Given the description of an element on the screen output the (x, y) to click on. 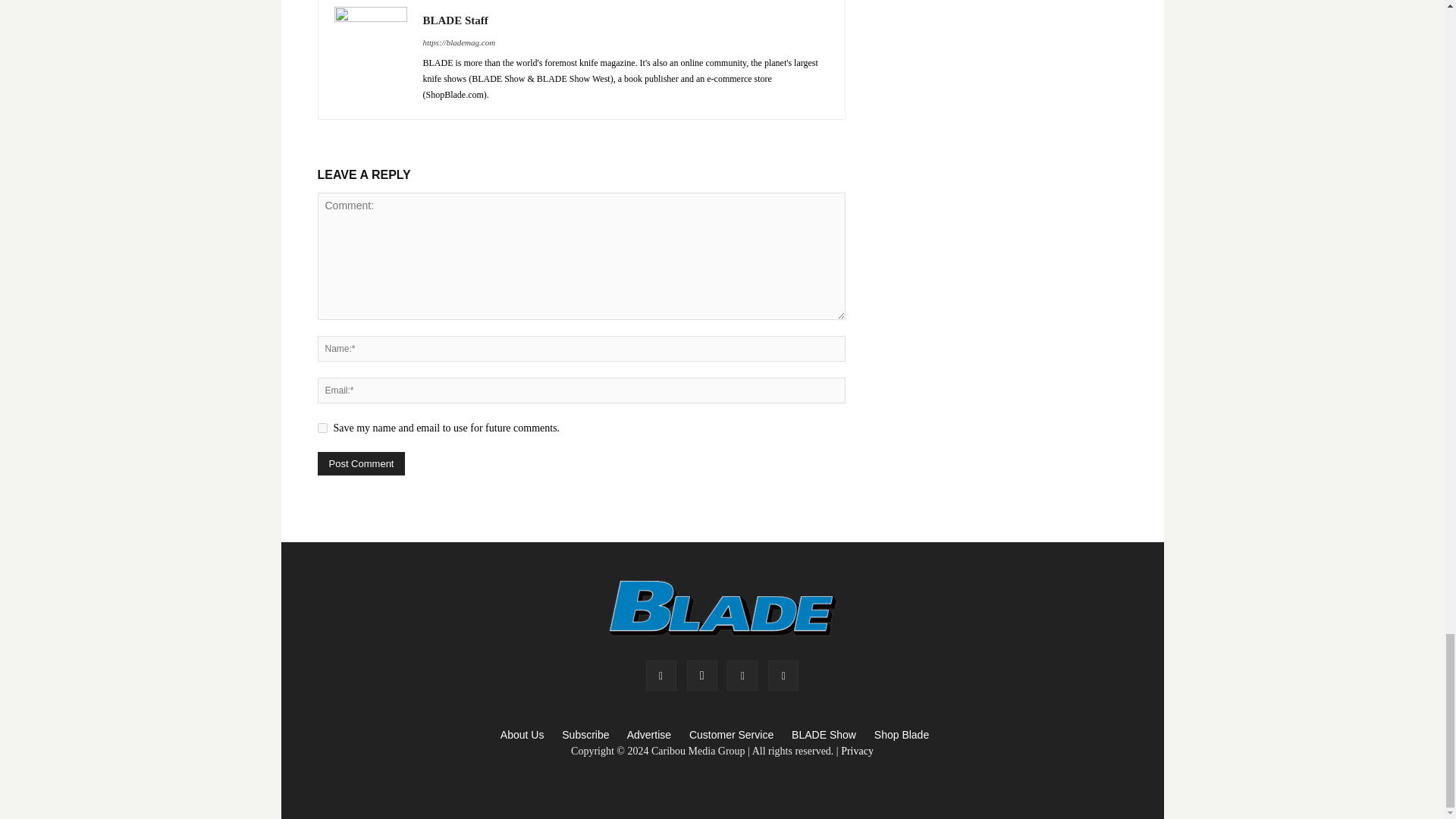
yes (321, 428)
Post Comment (360, 463)
